Given the description of an element on the screen output the (x, y) to click on. 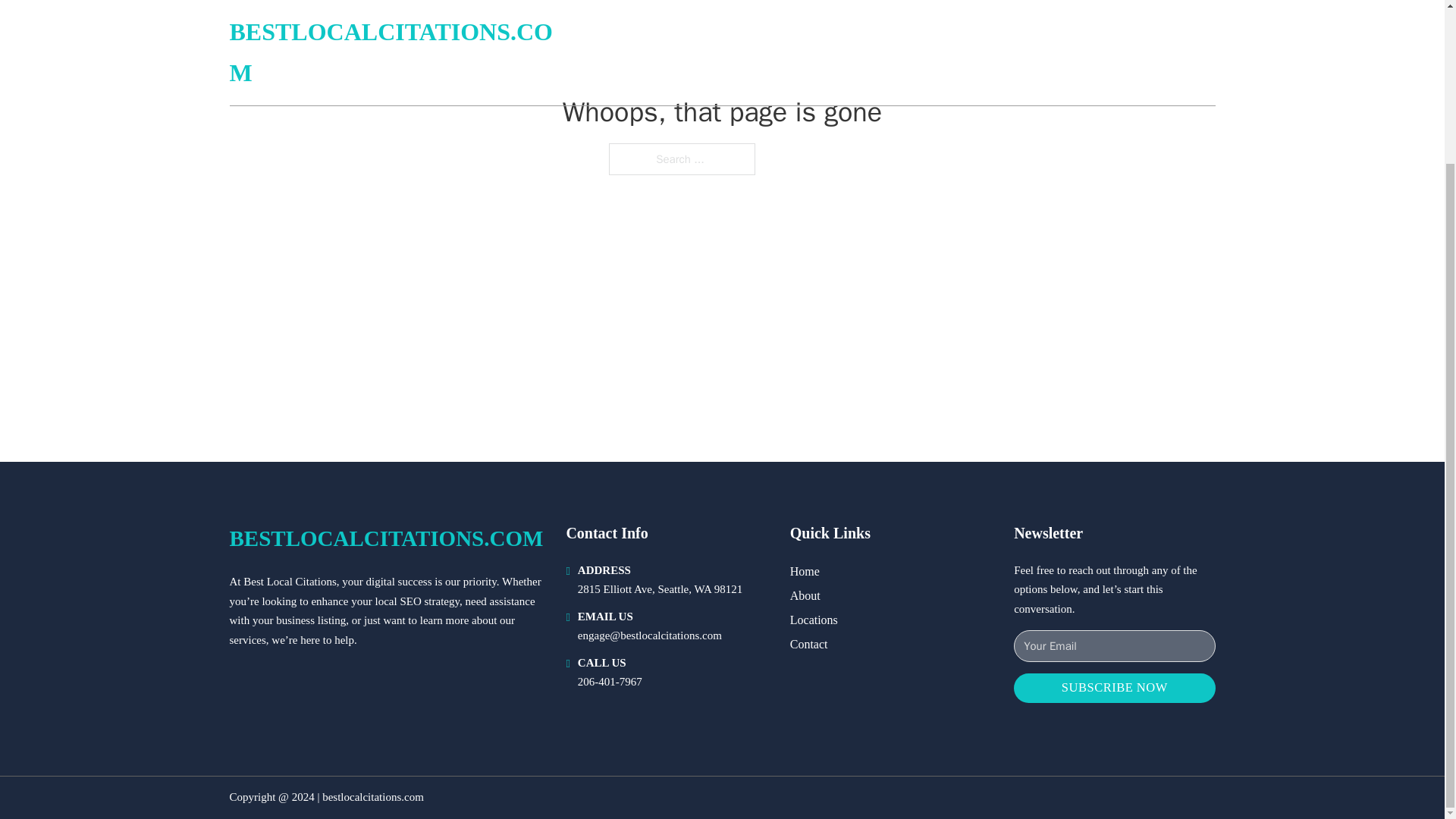
BESTLOCALCITATIONS.COM (385, 538)
SUBSCRIBE NOW (1113, 687)
206-401-7967 (610, 681)
Contact (809, 643)
Home (804, 571)
Locations (814, 619)
About (805, 595)
